Given the description of an element on the screen output the (x, y) to click on. 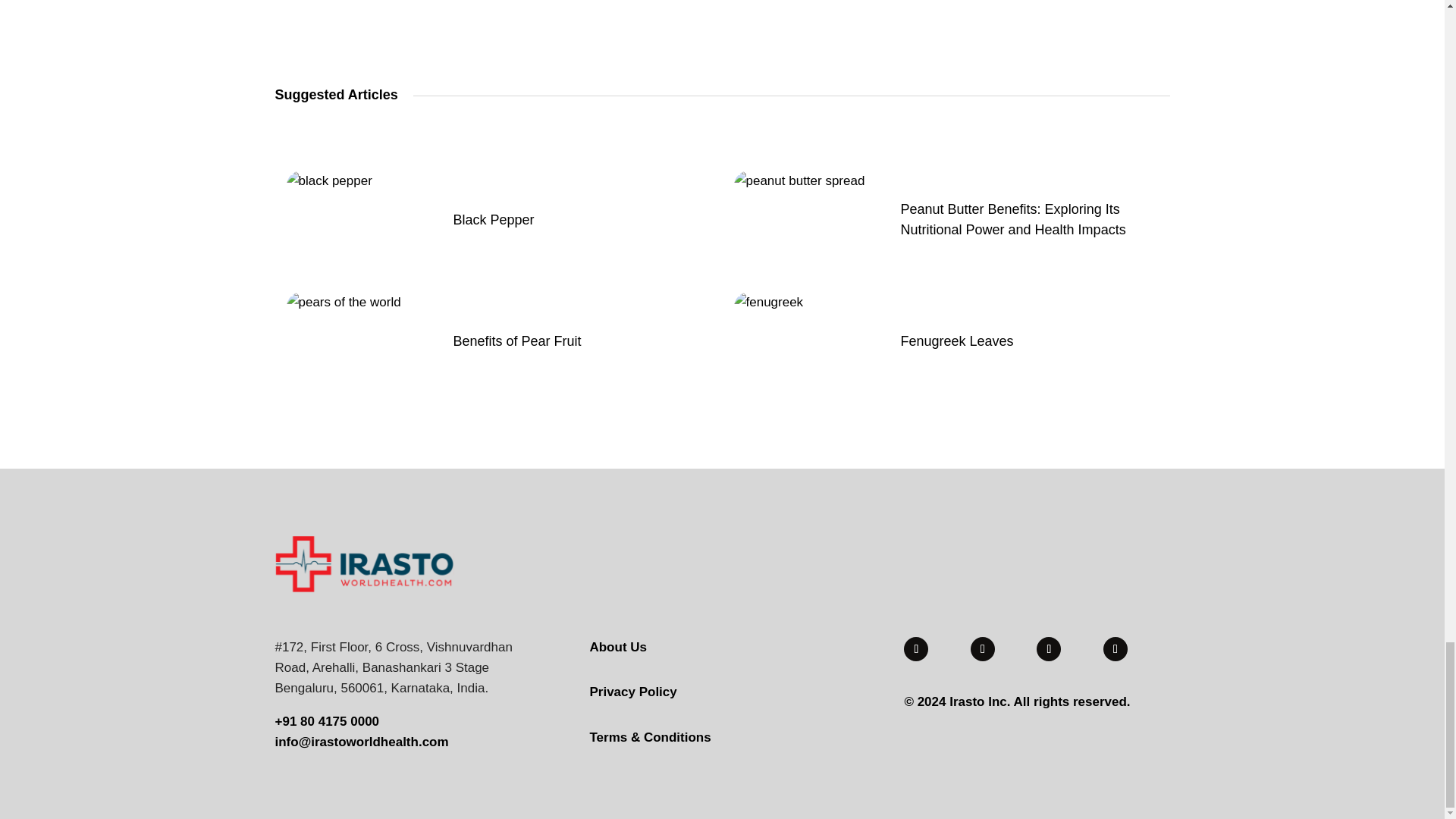
Irasto-logo (363, 563)
Follow on X (1048, 648)
Follow on Facebook (982, 648)
Follow on Youtube (916, 648)
